Given the description of an element on the screen output the (x, y) to click on. 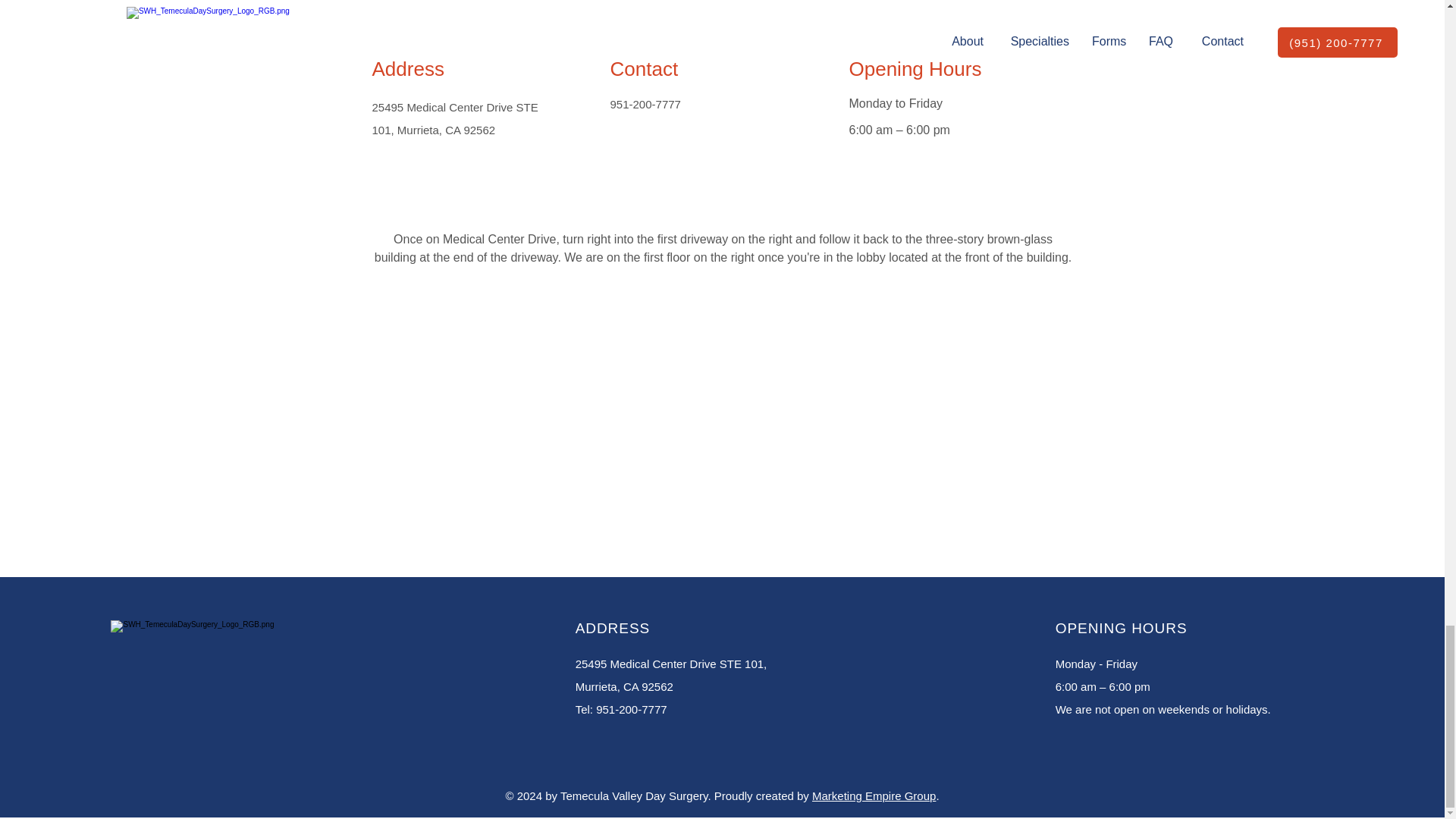
Marketing Empire Group (874, 795)
951-200-7777 (644, 103)
tvds-vert-logo-inverted-rgb.png (223, 652)
